Given the description of an element on the screen output the (x, y) to click on. 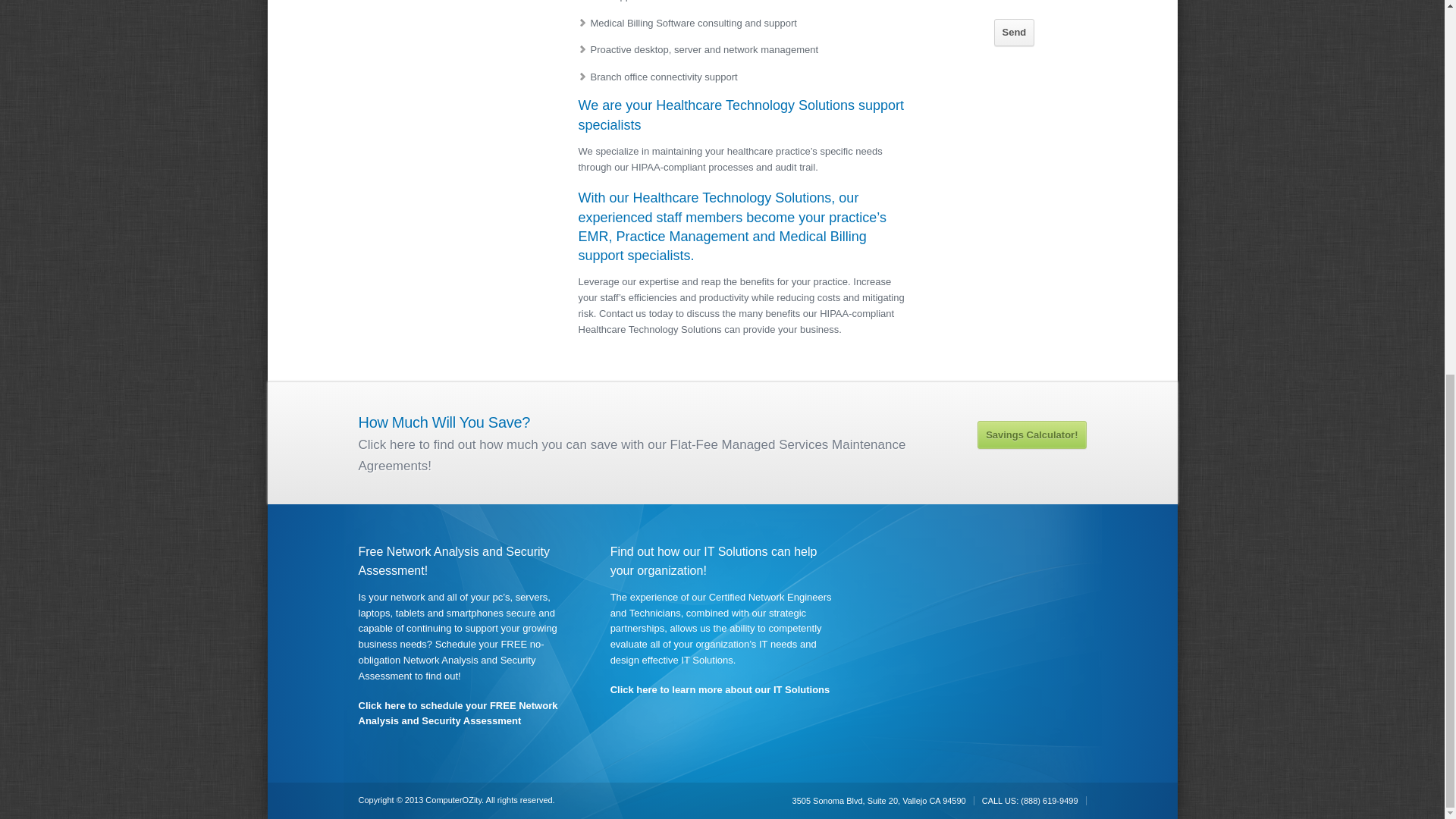
Send (1014, 31)
